Given the description of an element on the screen output the (x, y) to click on. 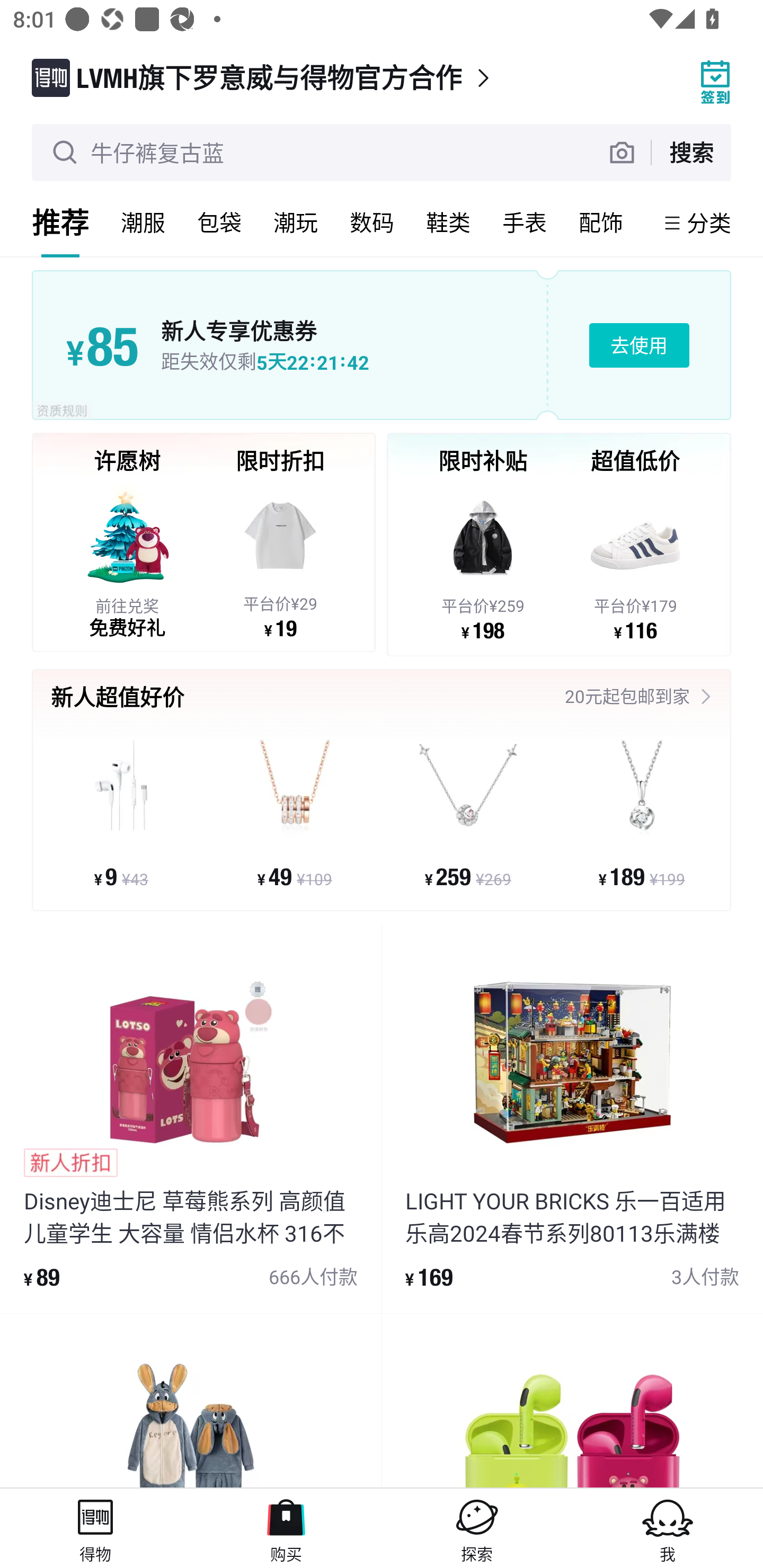
搜索 (690, 152)
推荐 (60, 222)
潮服 (143, 222)
包袋 (219, 222)
潮玩 (295, 222)
数码 (372, 222)
鞋类 (448, 222)
手表 (524, 222)
配饰 (601, 222)
分类 (708, 222)
平台价¥29 ¥ 19 (279, 559)
前往兑奖 免费好礼 (127, 559)
平台价¥259 ¥ 198 (482, 560)
平台价¥179 ¥ 116 (635, 560)
¥ 9 ¥43 (121, 813)
¥ 49 ¥109 (294, 813)
¥ 259 ¥269 (468, 813)
¥ 189 ¥199 (641, 813)
product_item (190, 1400)
product_item (572, 1400)
得物 (95, 1528)
购买 (285, 1528)
探索 (476, 1528)
我 (667, 1528)
